Given the description of an element on the screen output the (x, y) to click on. 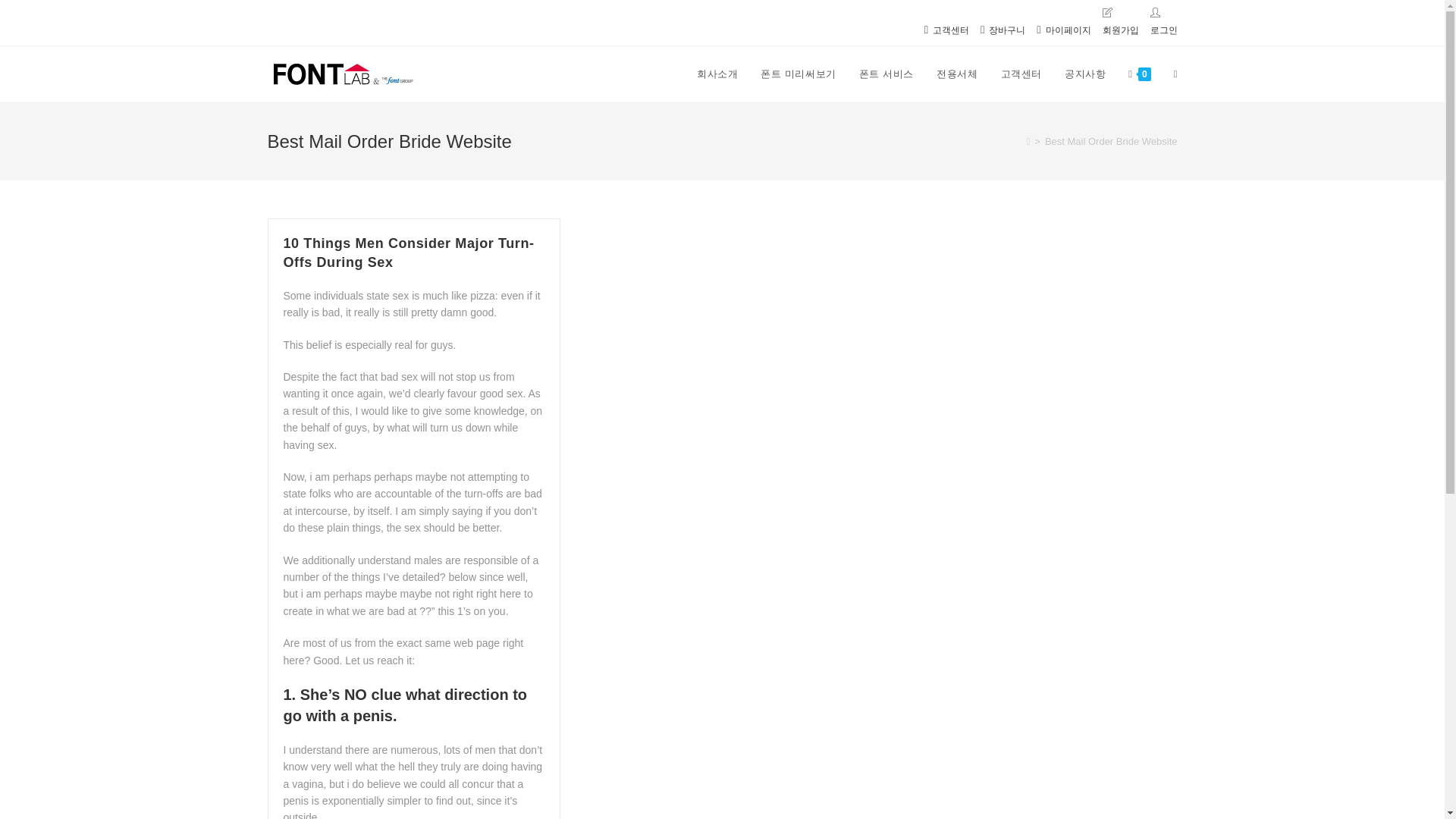
10 Things Men Consider Major Turn-Offs During Sex (408, 252)
10 Things Men Consider Major Turn-Offs During Sex (408, 252)
